Given the description of an element on the screen output the (x, y) to click on. 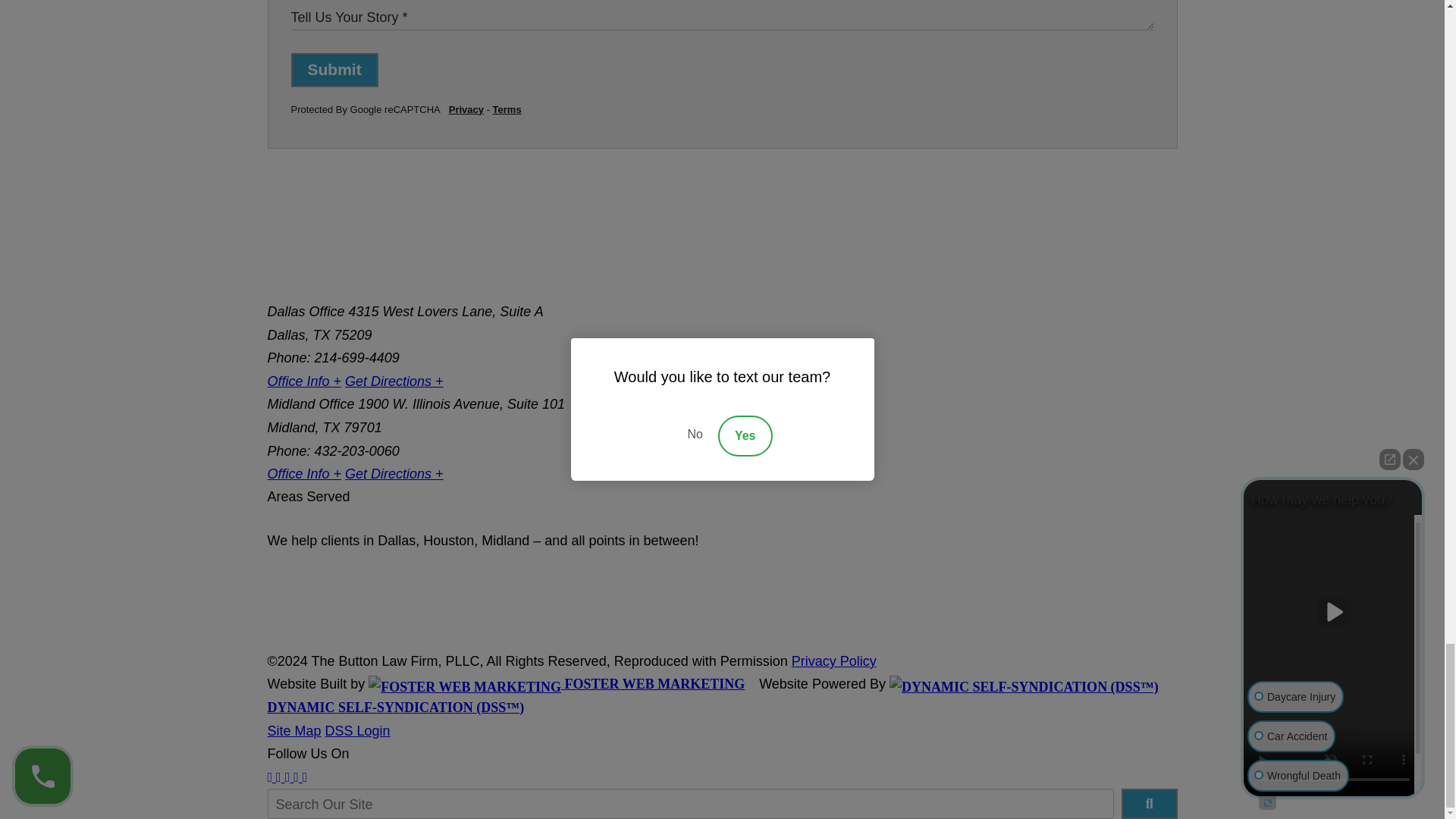
Facebook (269, 776)
YouTube (296, 776)
Instagram (304, 776)
LinkedIn (287, 776)
Twitter (278, 776)
